Given the description of an element on the screen output the (x, y) to click on. 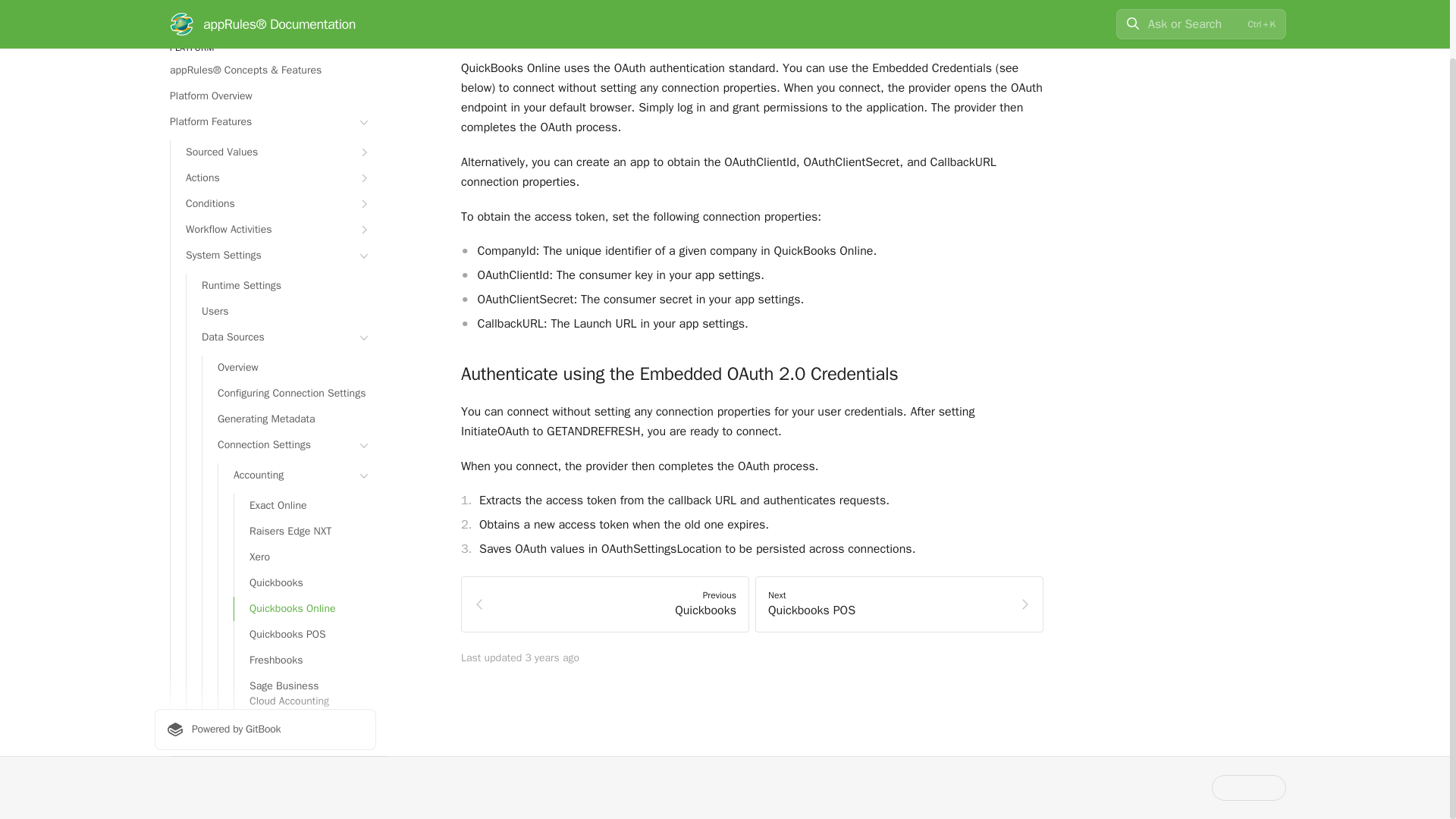
Platform Features (264, 121)
Platform Overview (264, 96)
Actions (272, 178)
Sourced Values (272, 152)
